Given the description of an element on the screen output the (x, y) to click on. 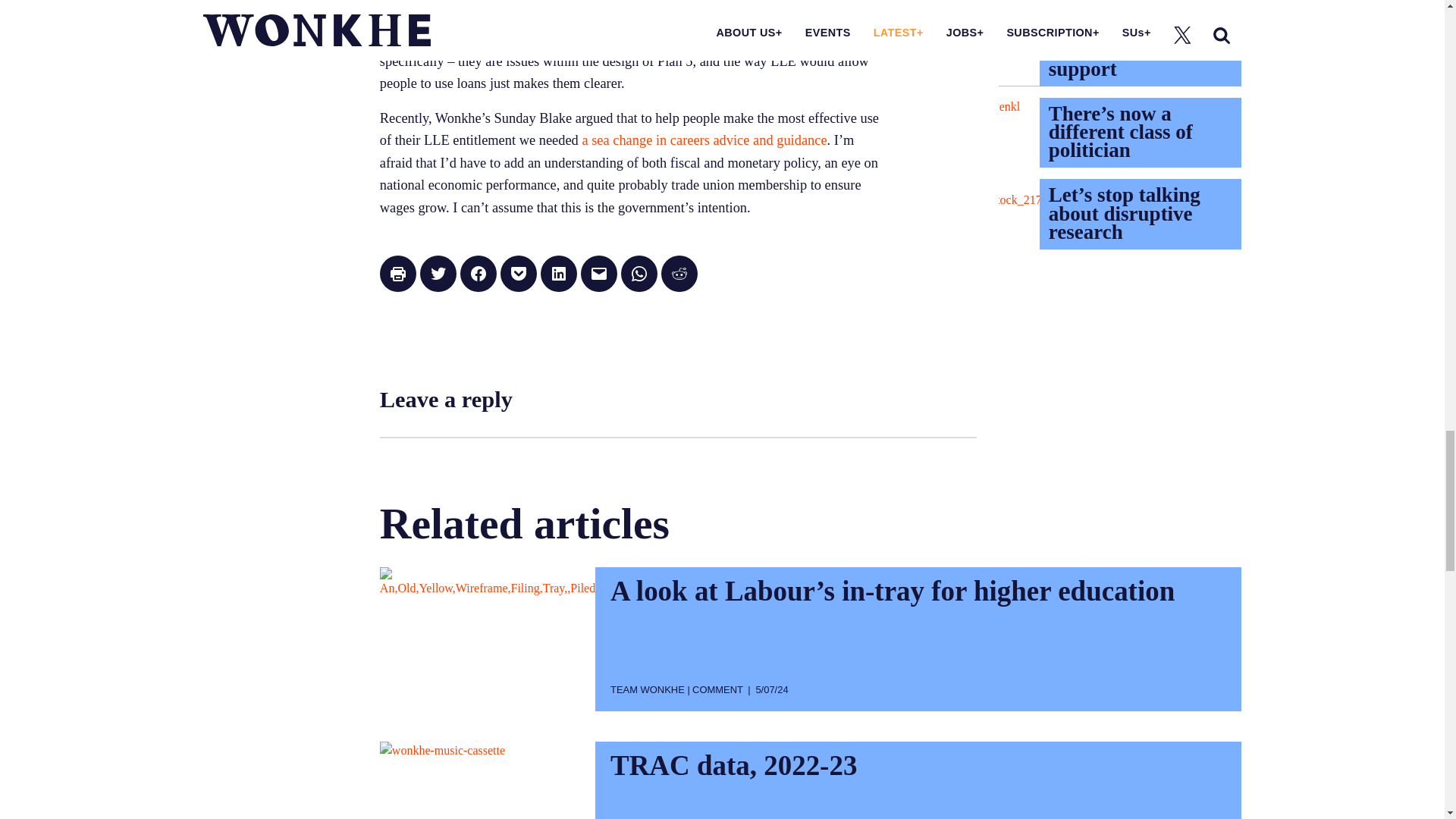
Click to share on LinkedIn (558, 273)
Click to email this to a friend (598, 273)
Click to share on Facebook (478, 273)
Click to share on WhatsApp (639, 273)
Click to print (398, 273)
Click to share on Pocket (518, 273)
Click to share on Reddit (679, 273)
Click to share on Twitter (438, 273)
